Given the description of an element on the screen output the (x, y) to click on. 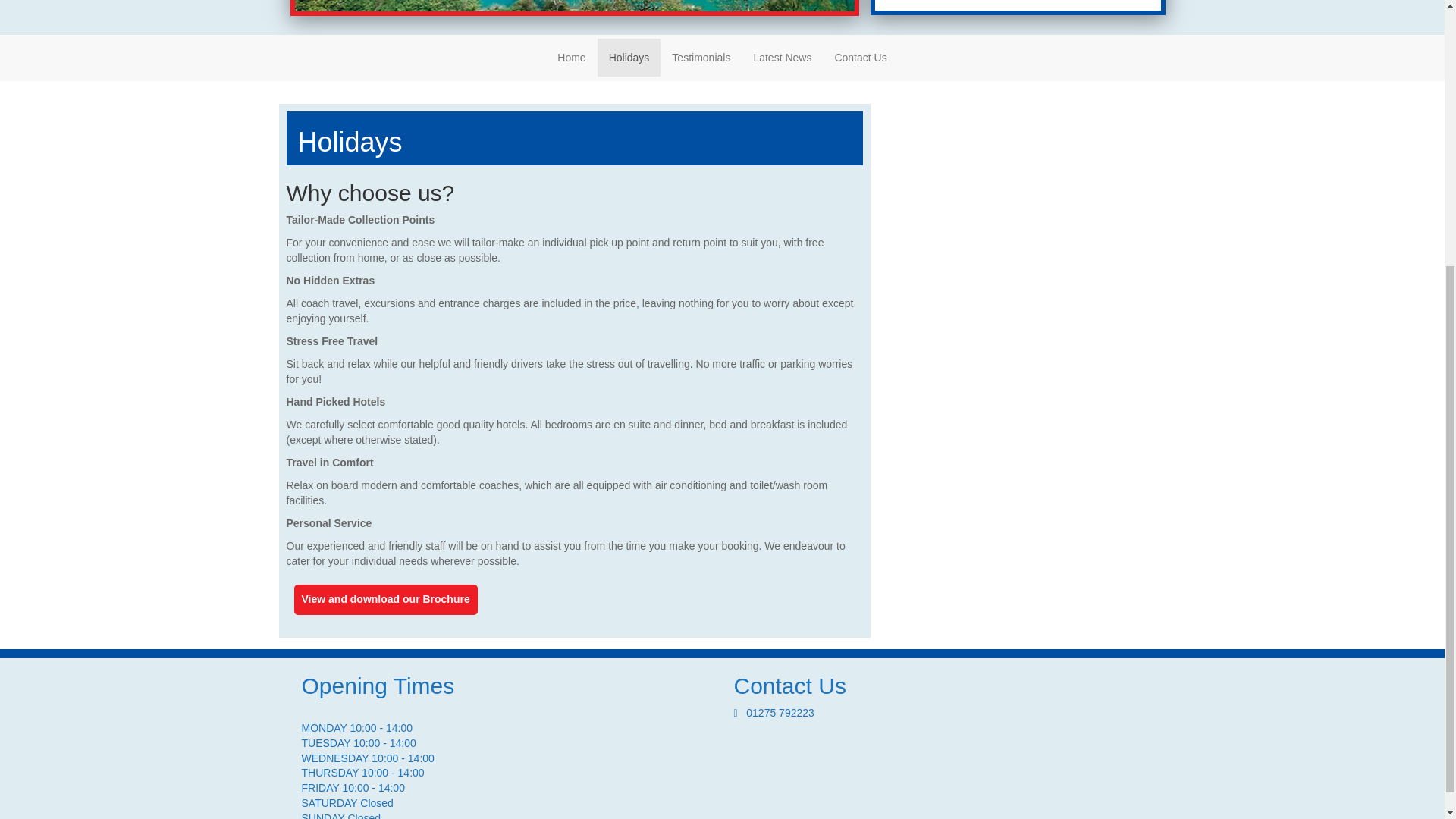
Contact Us (860, 57)
View and download our Brochure (385, 598)
Home (571, 57)
Testimonials (701, 57)
View and download our Brochure (385, 599)
Holidays (628, 57)
Latest News (781, 57)
